Given the description of an element on the screen output the (x, y) to click on. 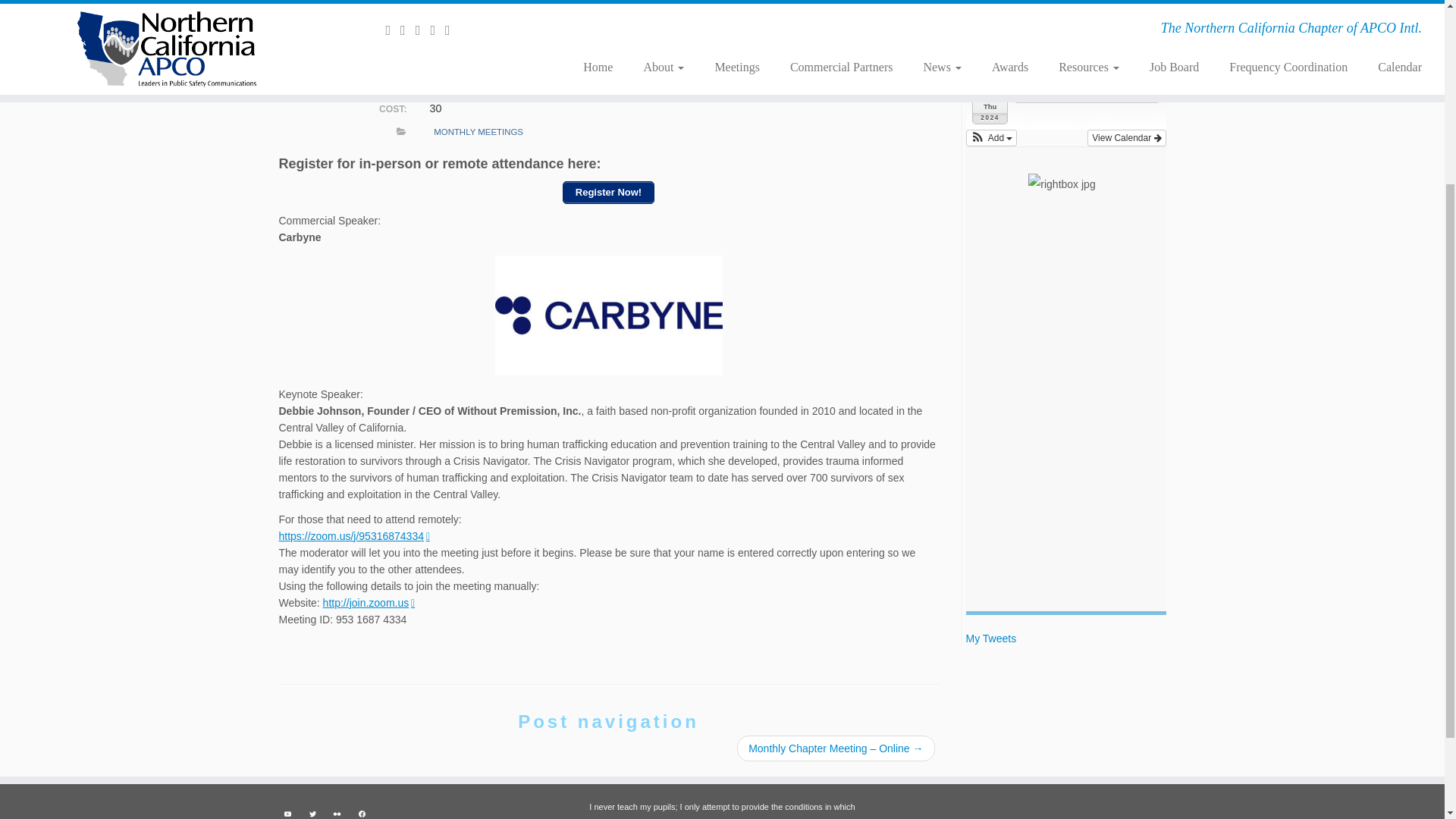
Calendar (901, 16)
View all events (901, 16)
Categories (401, 131)
